Given the description of an element on the screen output the (x, y) to click on. 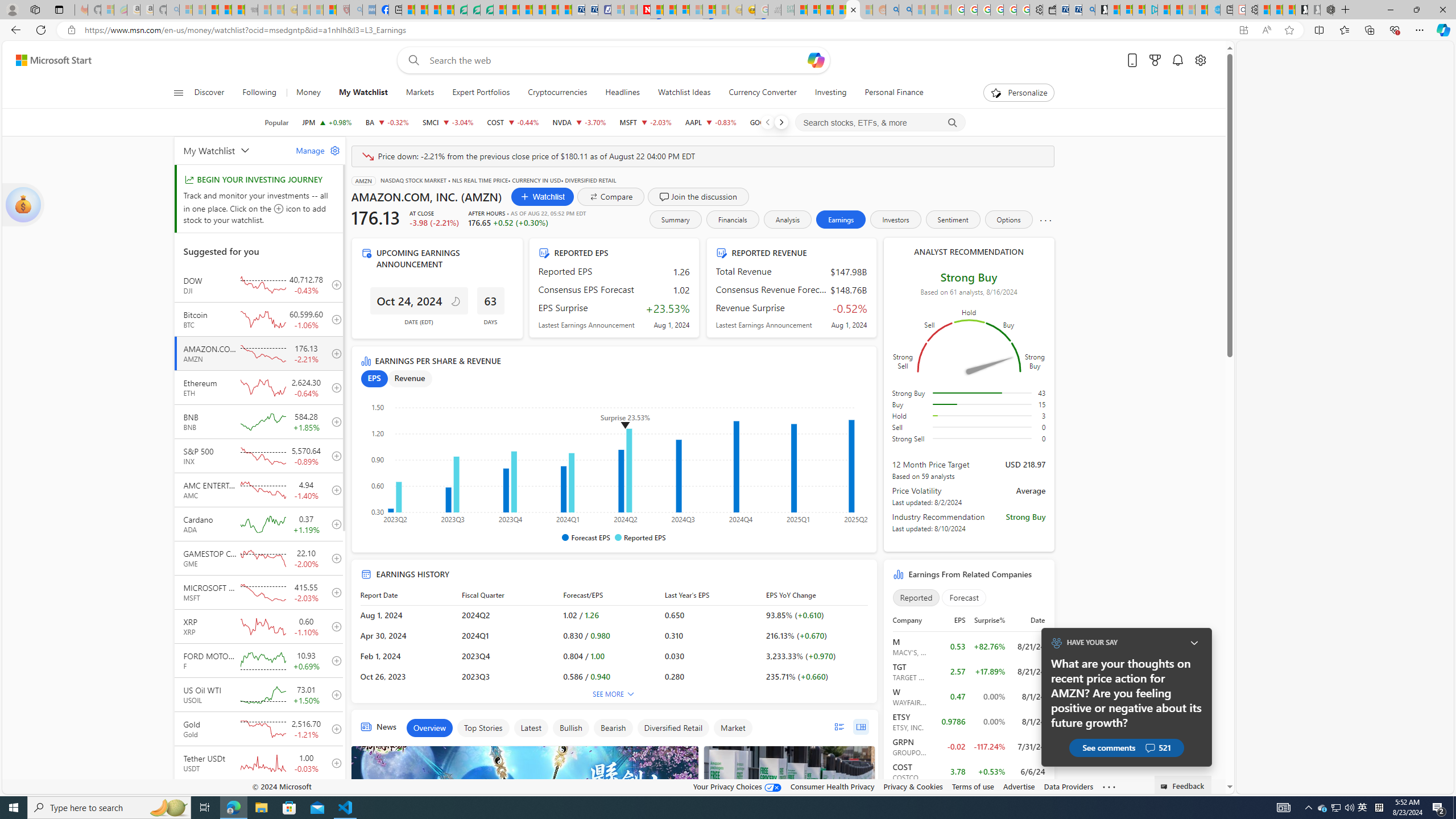
NVDA NVIDIA CORPORATION decrease 123.74 -4.76 -3.70% (579, 122)
Watchlist (542, 196)
JPM JPMORGAN CHASE & CO. increase 216.71 +2.11 +0.98% (326, 122)
Headlines (622, 92)
Bullish (570, 728)
Personal Finance (889, 92)
Currency Converter (762, 92)
Sentiment (952, 219)
Robert H. Shmerling, MD - Harvard Health - Sleeping (342, 9)
Markets (420, 92)
